Given the description of an element on the screen output the (x, y) to click on. 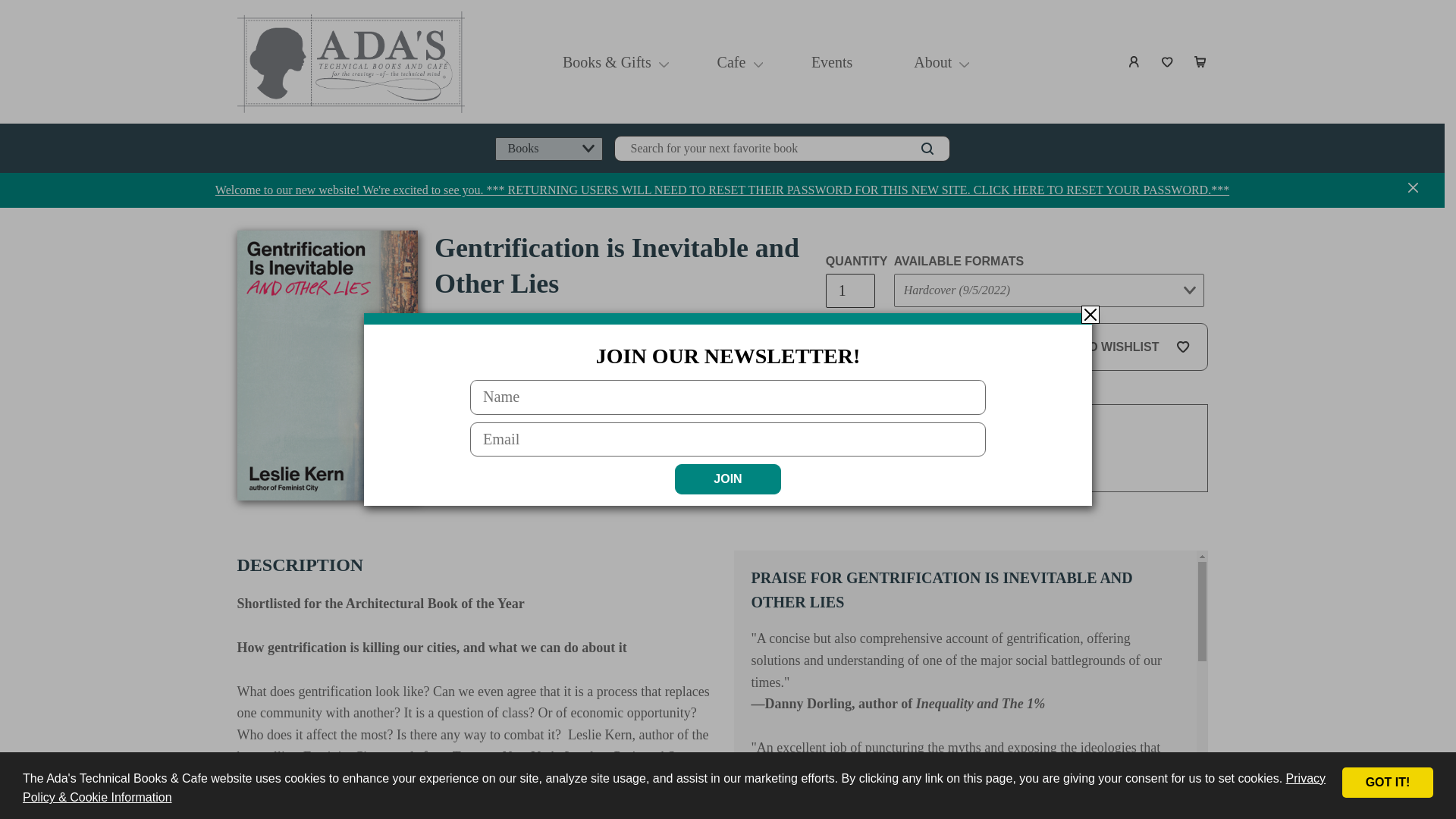
Wishlist (1168, 61)
Log in (1134, 61)
Close (1090, 314)
Add to cart (919, 346)
Cart (1201, 61)
Leslie Kern (469, 320)
Join (727, 479)
Wishlists (1168, 61)
GOT IT! (1387, 782)
1 (850, 290)
Add to cart (919, 346)
Cart (1201, 61)
SEARCH (926, 148)
Log in (1134, 61)
